Given the description of an element on the screen output the (x, y) to click on. 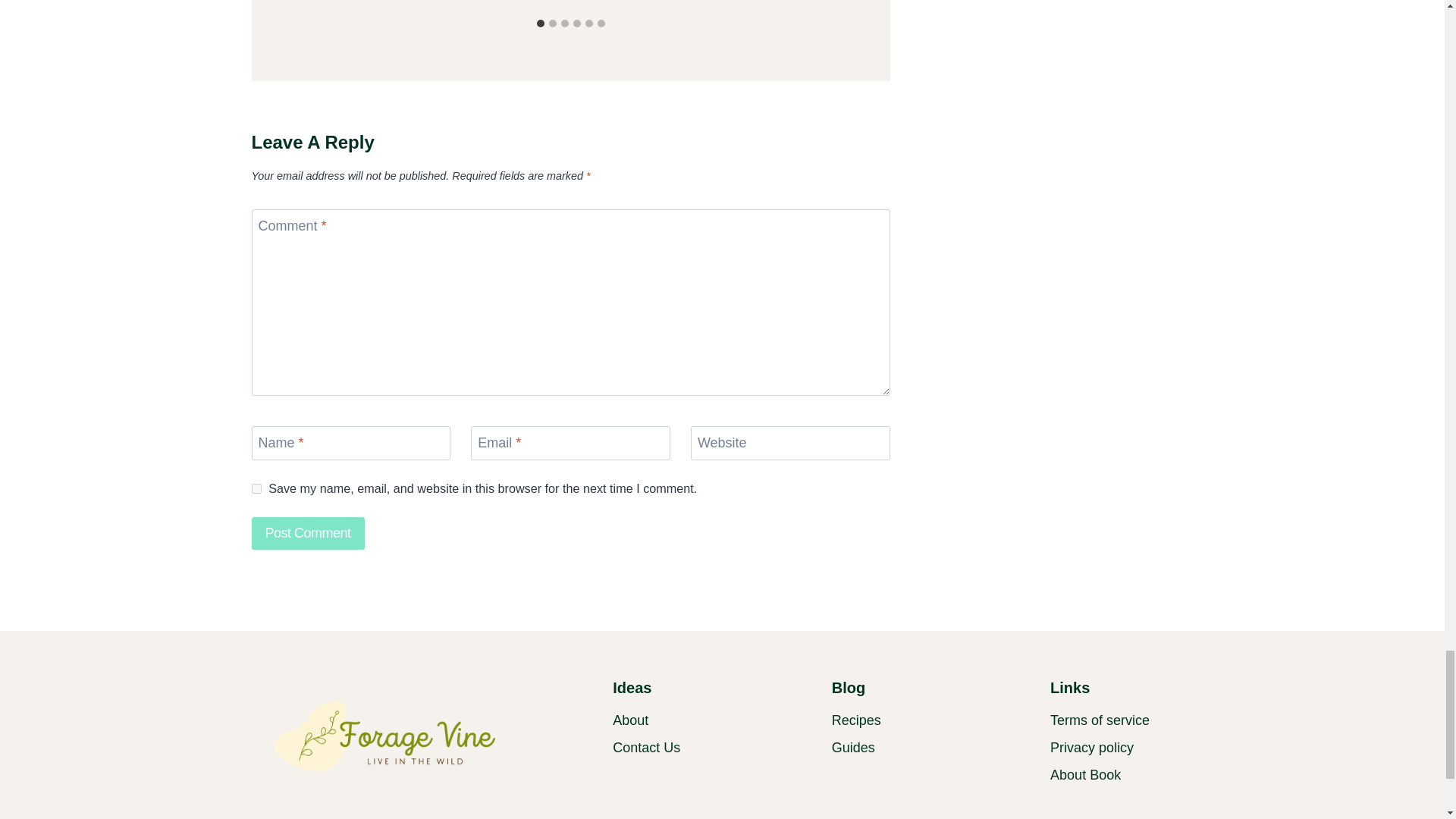
Post Comment (308, 532)
yes (256, 488)
